Given the description of an element on the screen output the (x, y) to click on. 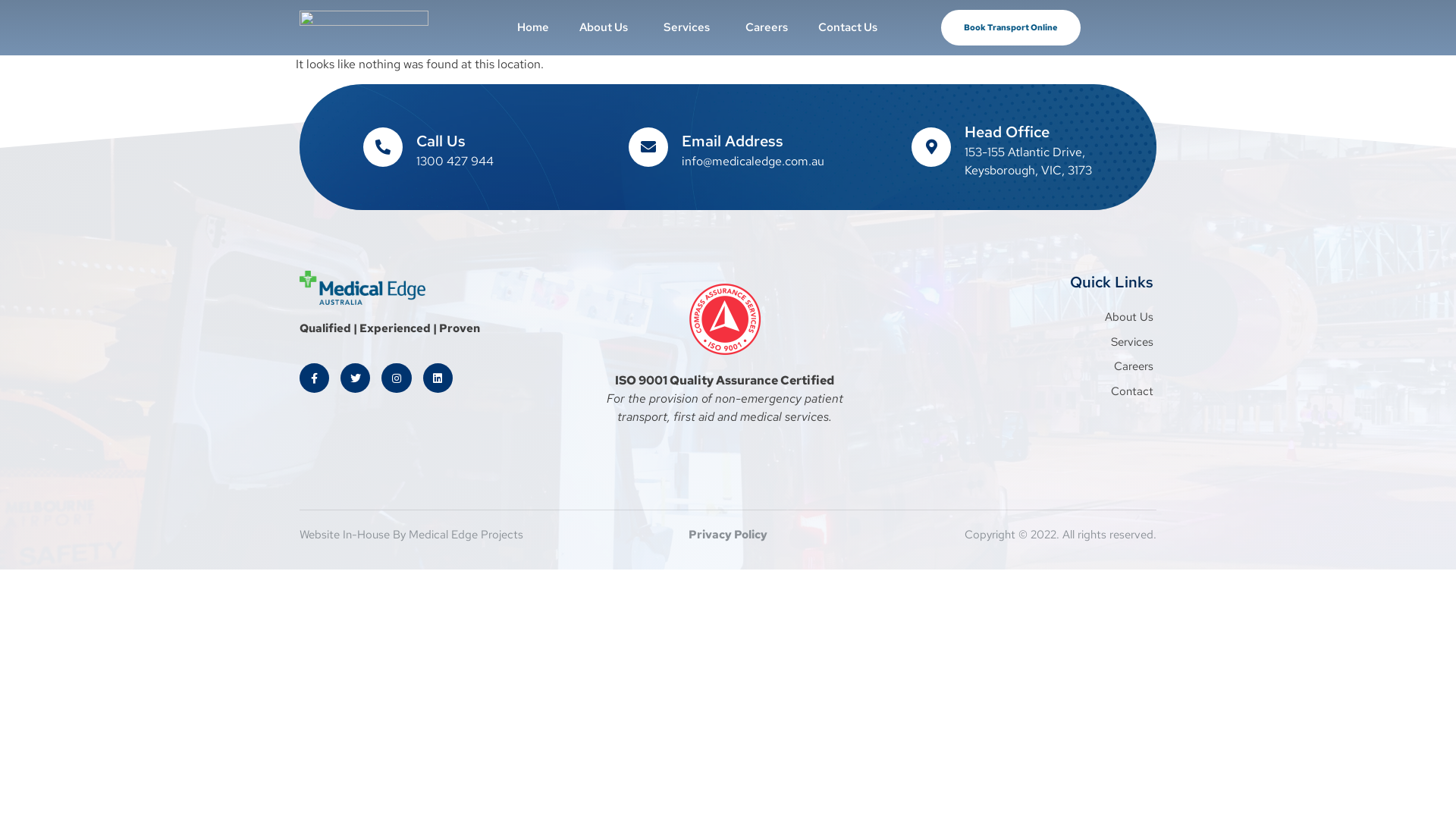
About Us Element type: text (606, 27)
Services Element type: text (1014, 342)
About Us Element type: text (1014, 317)
Careers Element type: text (766, 27)
Home Element type: text (533, 27)
Contact Element type: text (1014, 391)
Contact Us Element type: text (847, 27)
Book Transport Online Element type: text (1010, 27)
Compass-ISO-9001-Primary-Icon Element type: hover (724, 319)
Privacy Policy Element type: text (727, 534)
Careers Element type: text (1014, 366)
Services Element type: text (689, 27)
